Given the description of an element on the screen output the (x, y) to click on. 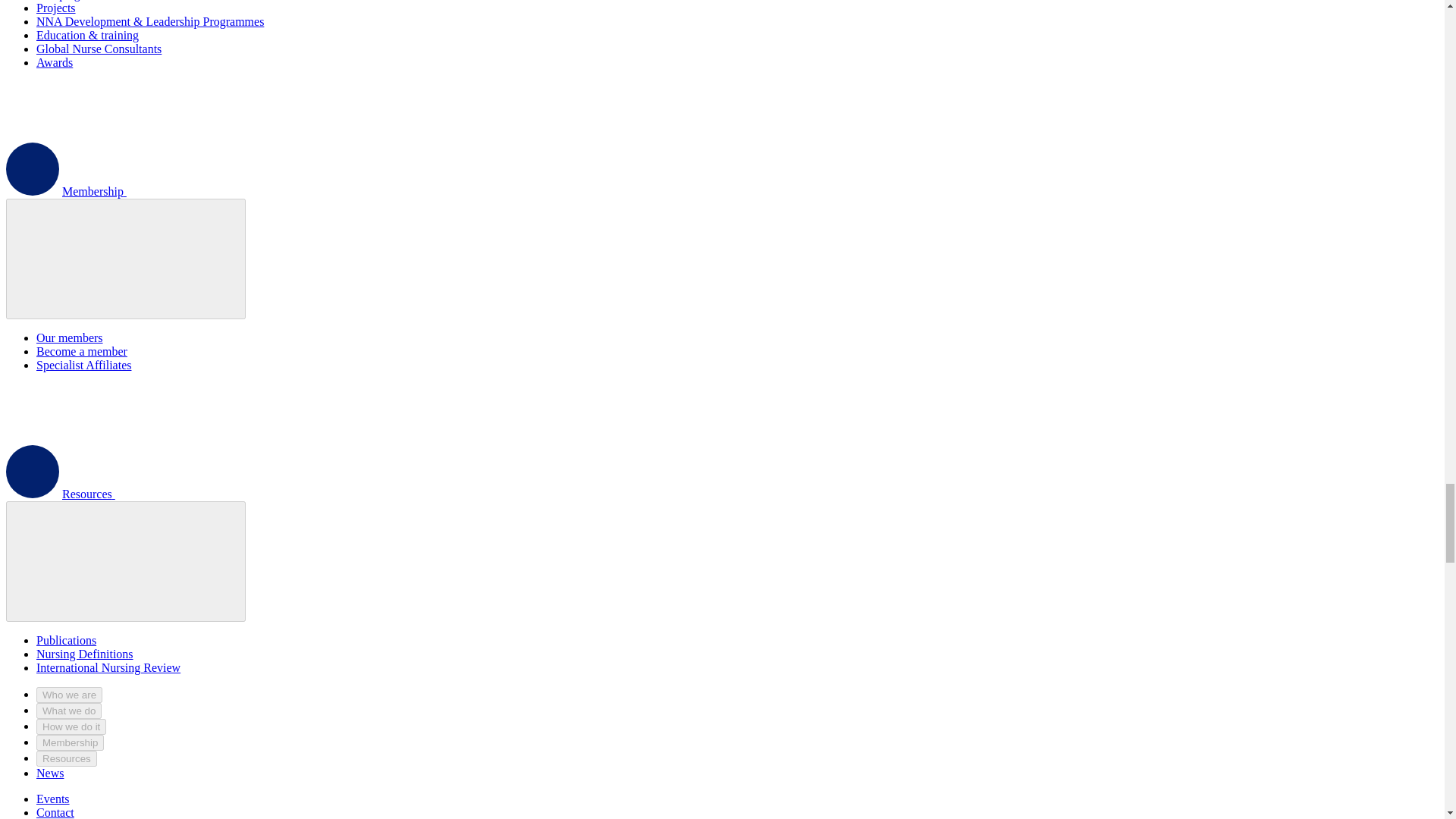
Campaigns (63, 0)
Projects (55, 7)
